Given the description of an element on the screen output the (x, y) to click on. 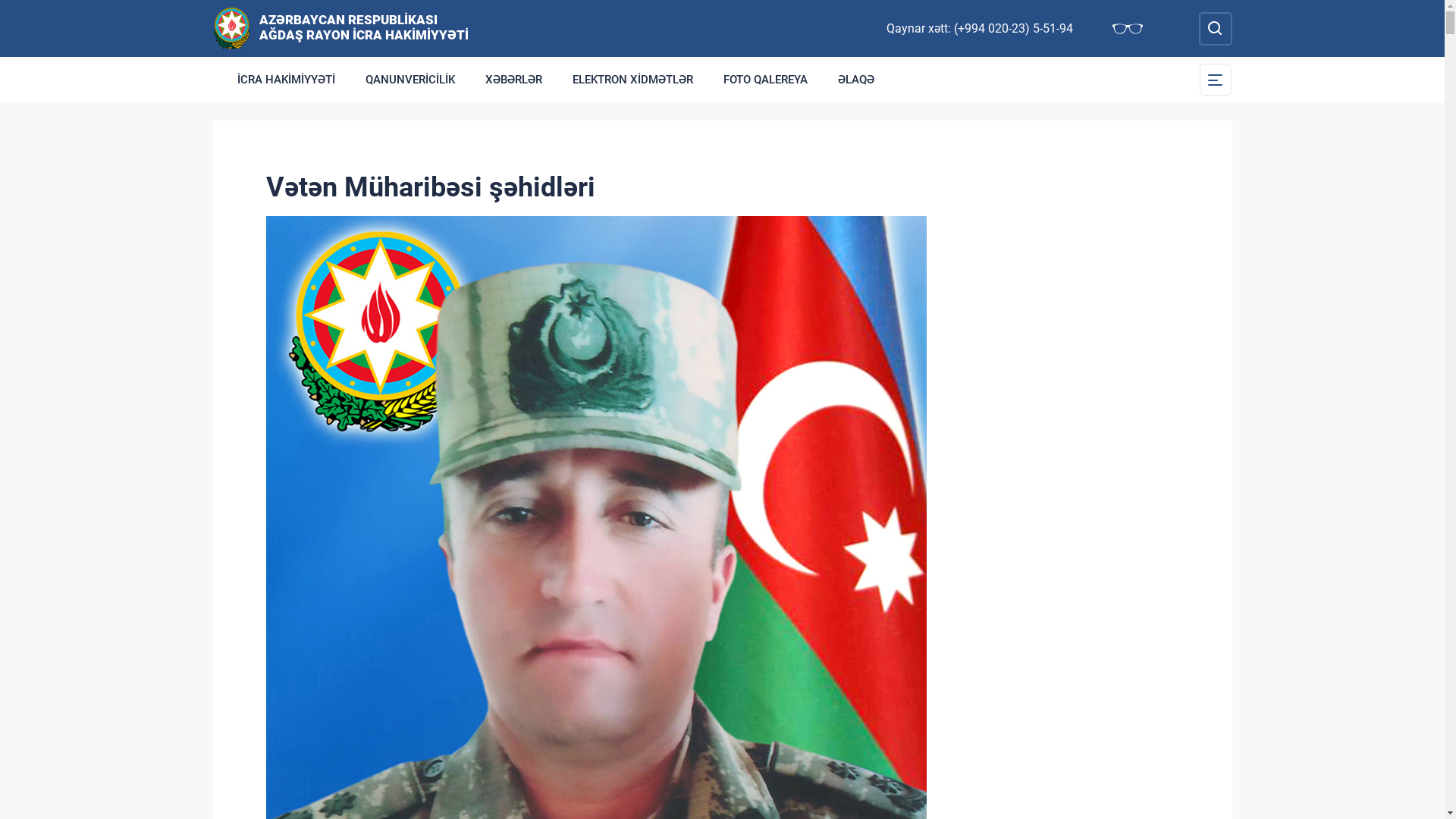
QANUNVERICILIK Element type: text (410, 79)
FOTO QALEREYA Element type: text (765, 79)
